Given the description of an element on the screen output the (x, y) to click on. 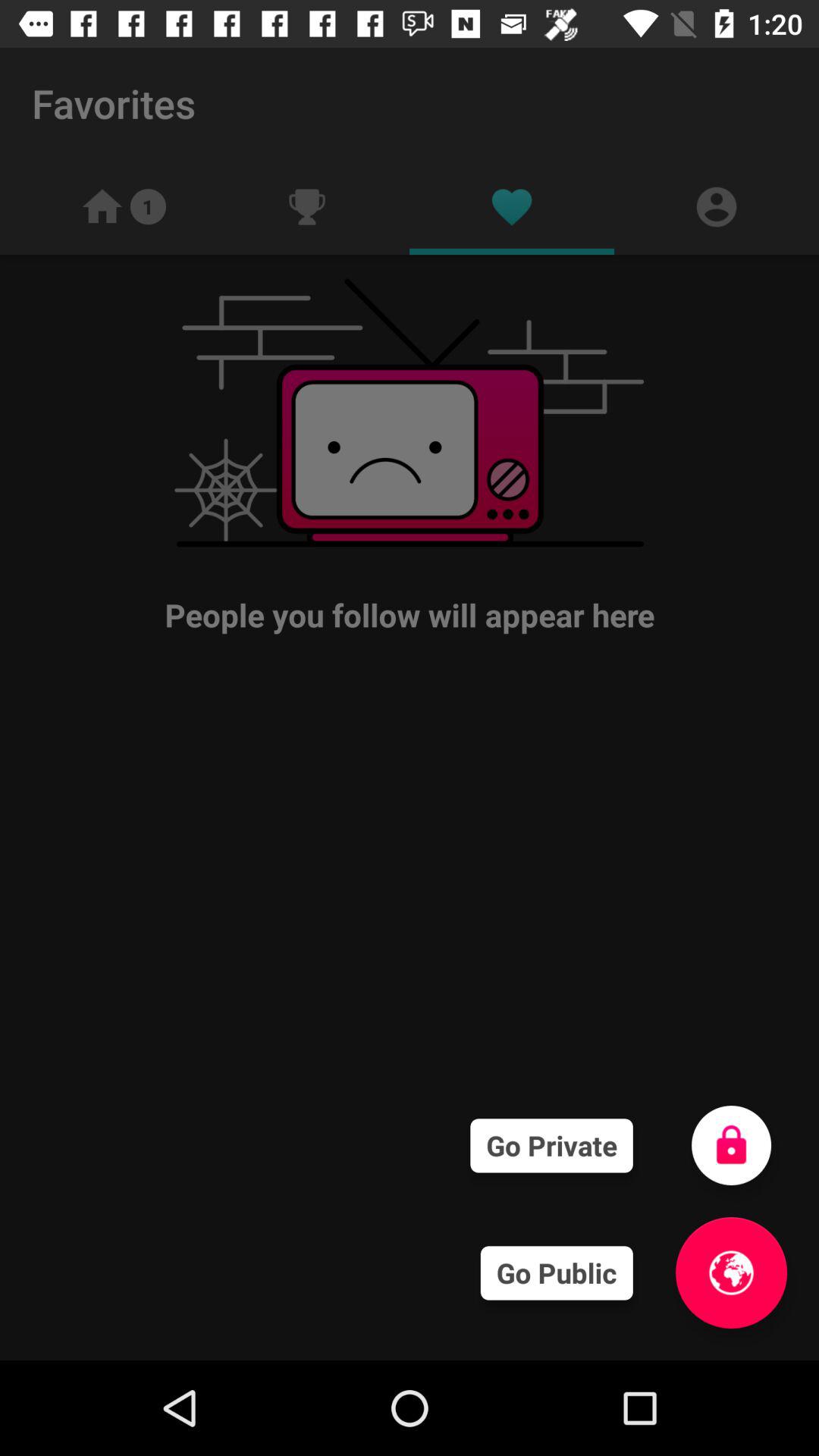
open icon at the center (409, 703)
